Given the description of an element on the screen output the (x, y) to click on. 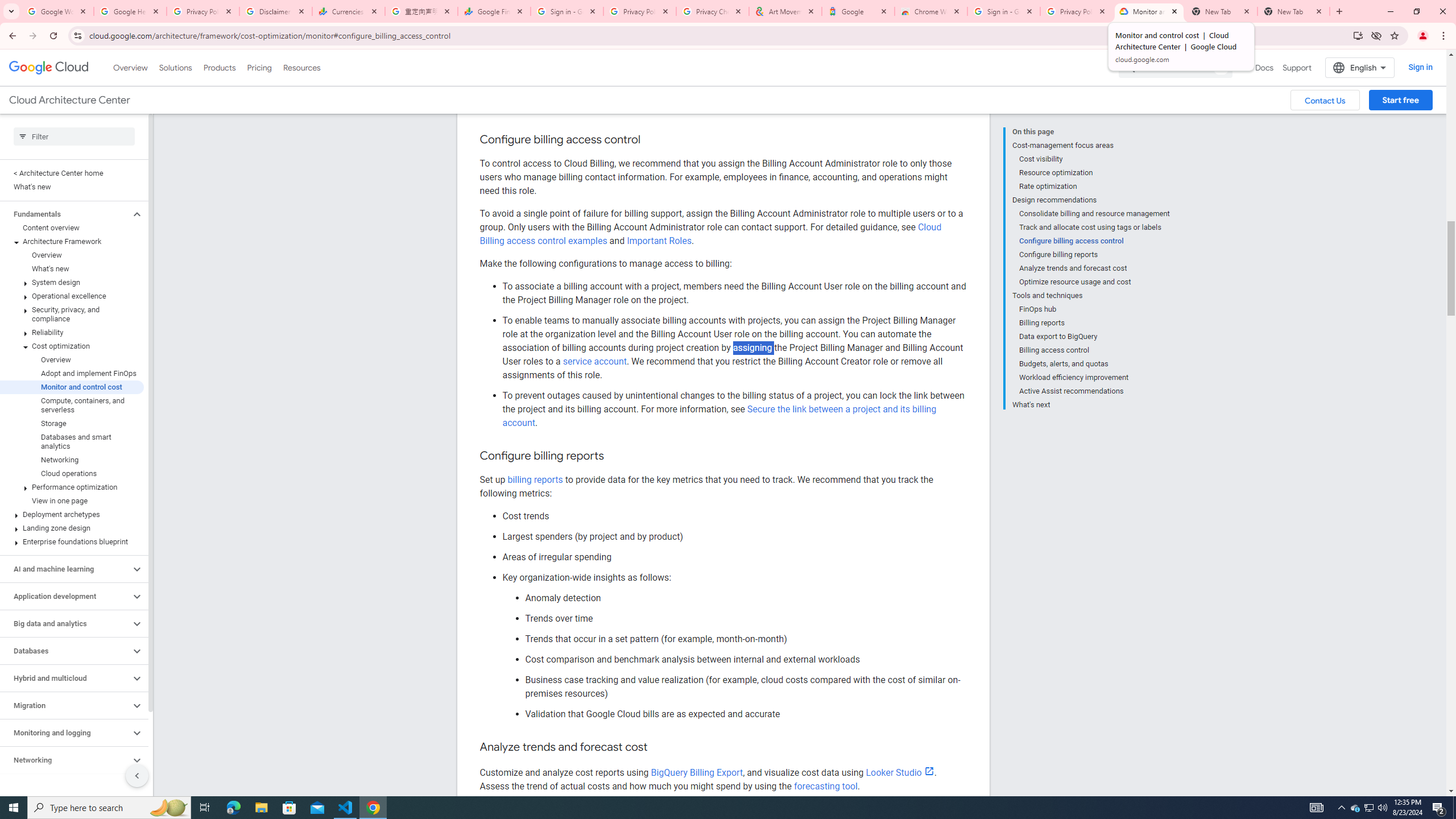
Adopt and implement FinOps (72, 373)
Cost optimization (72, 345)
View in one page (72, 500)
Active Assist recommendations (1094, 391)
Content overview (72, 228)
Databases and smart analytics (72, 441)
Looker Studio (900, 772)
Cloud Asset Inventory (719, 49)
Landing zone design (72, 527)
Operational excellence (72, 296)
Reliability (72, 332)
